Given the description of an element on the screen output the (x, y) to click on. 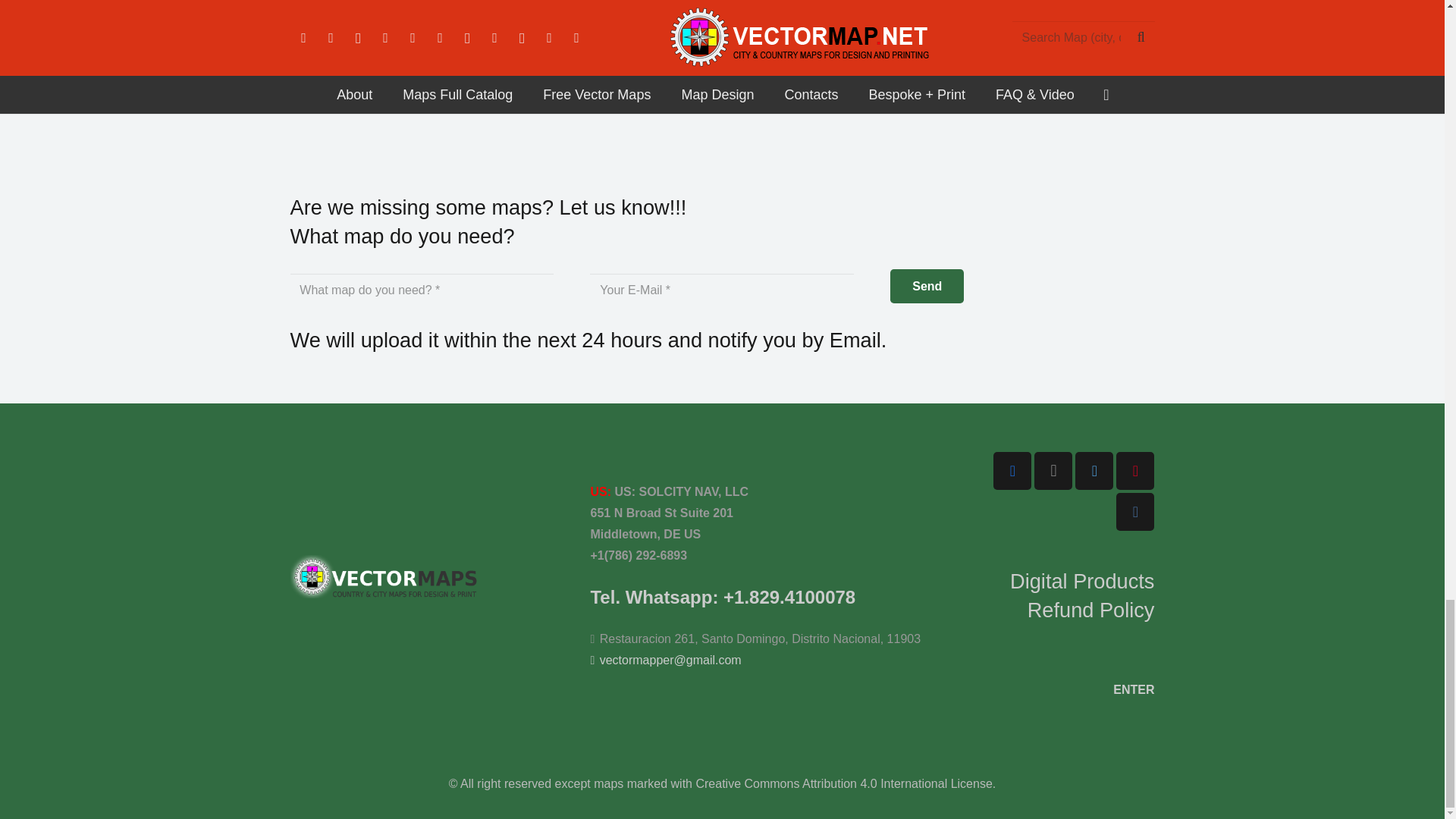
Send (926, 286)
